Given the description of an element on the screen output the (x, y) to click on. 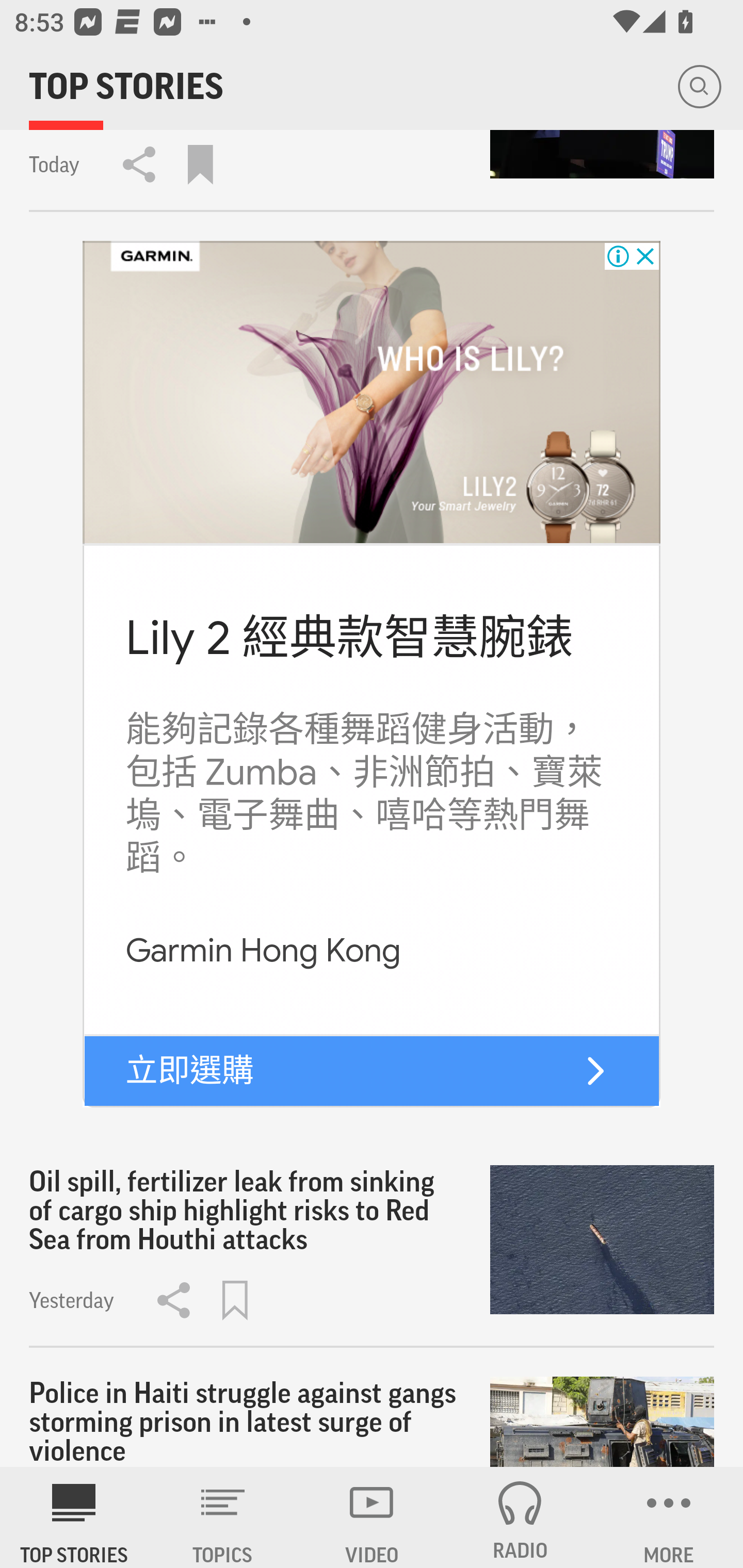
lily2-classic-gold-tan (371, 392)
Lily 2 經典款智慧腕錶 (348, 636)
Garmin Hong Kong (262, 950)
lily2-classic-gold-tan (371, 1072)
lily2-classic-gold-tan (594, 1070)
立即選購 (189, 1069)
AP News TOP STORIES (74, 1517)
TOPICS (222, 1517)
VIDEO (371, 1517)
RADIO (519, 1517)
MORE (668, 1517)
